Given the description of an element on the screen output the (x, y) to click on. 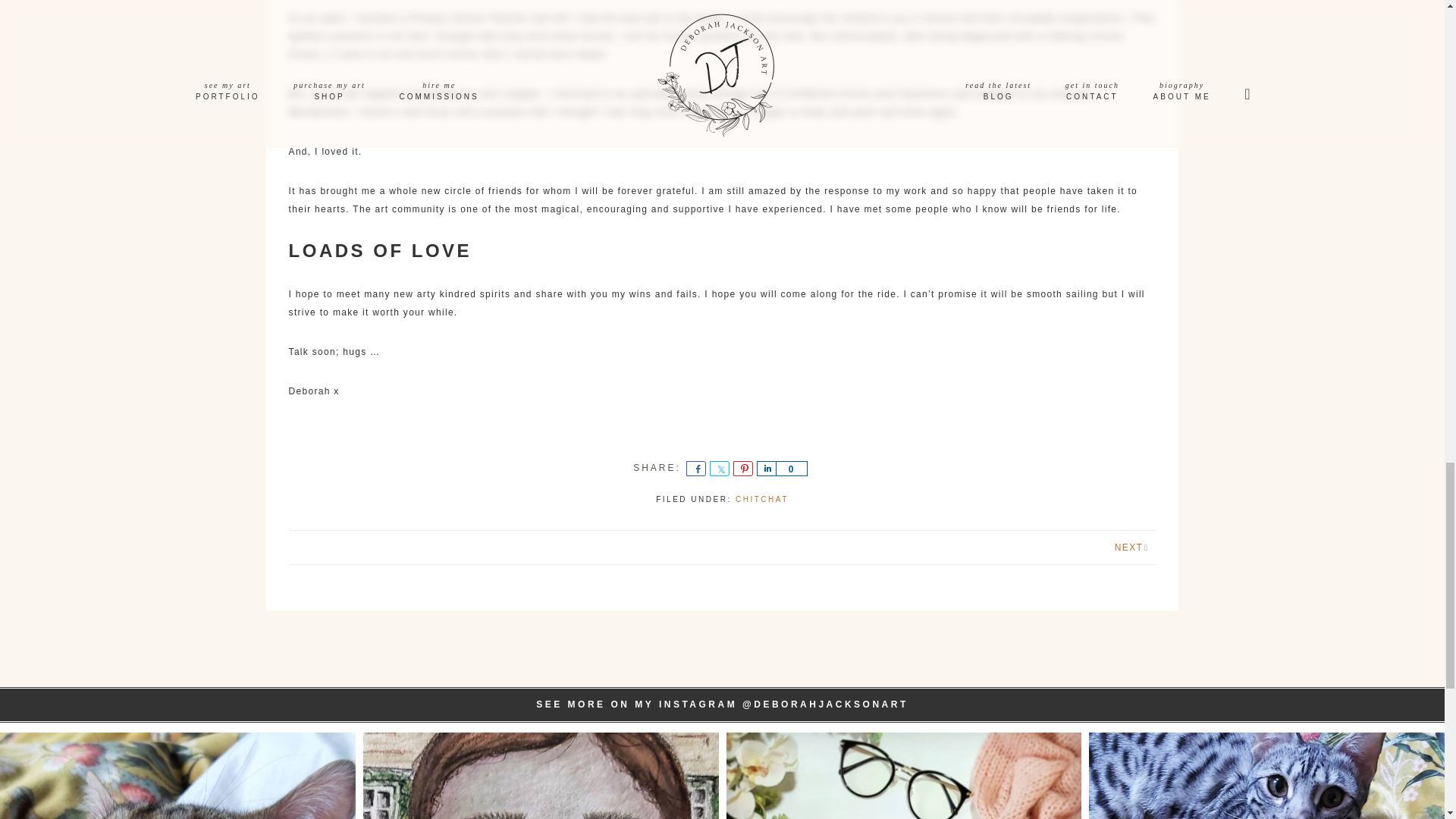
Share (695, 468)
NEXT (1128, 547)
CHITCHAT (762, 499)
0 (792, 468)
Share (719, 468)
Share (766, 468)
Pin (742, 468)
